Given the description of an element on the screen output the (x, y) to click on. 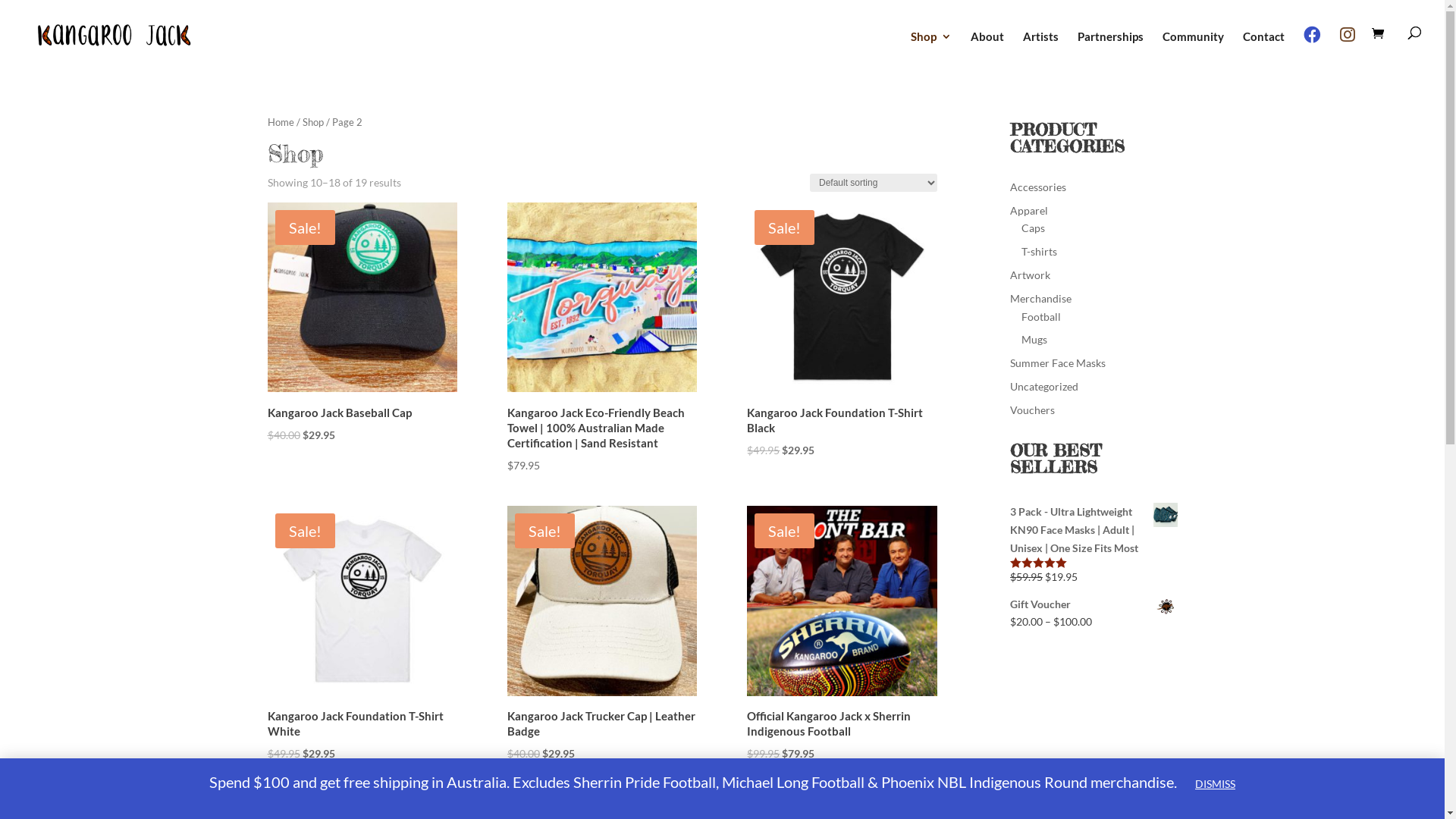
DISMISS Element type: text (1215, 783)
Shop Element type: text (312, 122)
Apparel Element type: text (1029, 209)
Caps Element type: text (1032, 227)
Merchandise Element type: text (1040, 297)
T-shirts Element type: text (1039, 250)
Sale!
Kangaroo Jack Foundation T-Shirt White
$49.95 $29.95 Element type: text (361, 633)
Mugs Element type: text (1034, 338)
Home Element type: text (279, 122)
Contact Element type: text (1263, 49)
Artists Element type: text (1040, 49)
Shop Element type: text (930, 49)
Accessories Element type: text (1038, 186)
Artwork Element type: text (1030, 274)
Vouchers Element type: text (1032, 409)
Community Element type: text (1192, 49)
Sale!
Kangaroo Jack Foundation T-Shirt Black
$49.95 $29.95 Element type: text (841, 330)
Gift Voucher Element type: text (1093, 604)
Partnerships Element type: text (1110, 49)
About Element type: text (987, 49)
Sale!
Kangaroo Jack Baseball Cap
$40.00 $29.95 Element type: text (361, 323)
Football Element type: text (1040, 316)
Uncategorized Element type: text (1044, 385)
Summer Face Masks Element type: text (1057, 362)
